Given the description of an element on the screen output the (x, y) to click on. 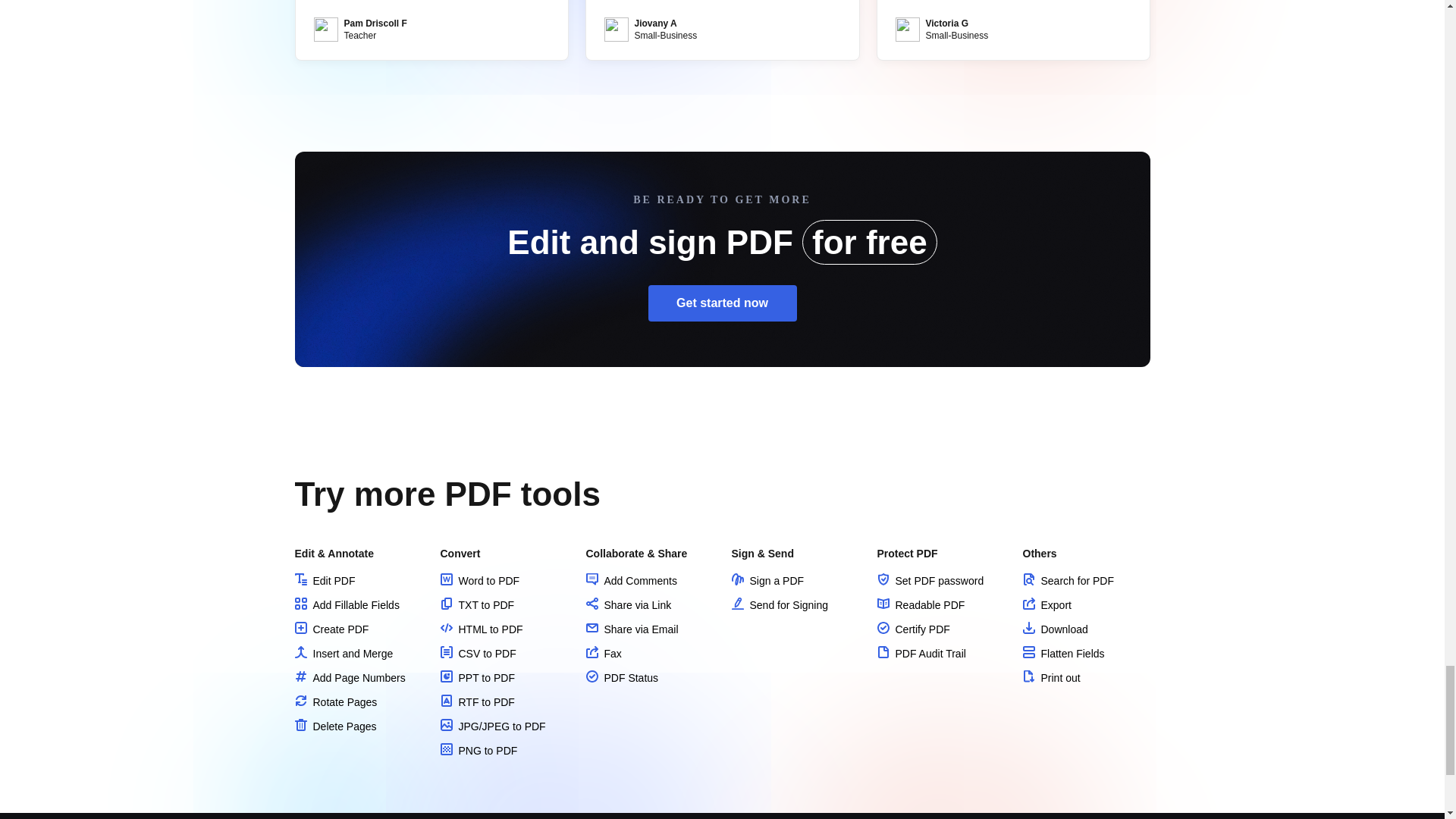
CSV to PDF (477, 653)
Share via Email (631, 629)
Create PDF (331, 629)
HTML to PDF (480, 629)
PPT to PDF (476, 677)
Insert and Merge (343, 653)
Add Comments (631, 580)
Fax (603, 653)
Edit PDF (324, 580)
Add Page Numbers (349, 677)
